Given the description of an element on the screen output the (x, y) to click on. 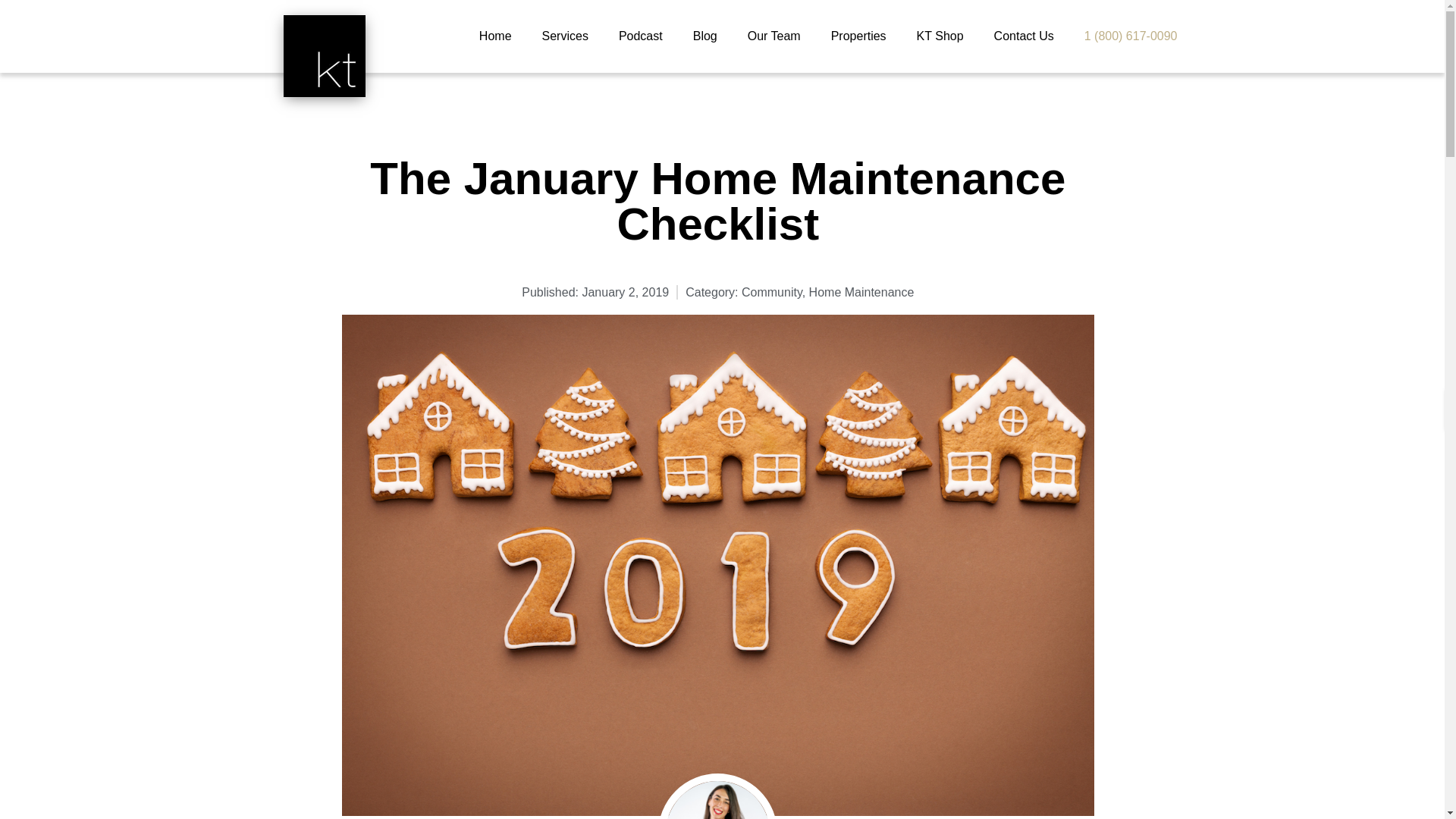
Services (564, 35)
Our Team (774, 35)
Podcast (640, 35)
Contact Us (1024, 35)
Home (495, 35)
Properties (858, 35)
KT Shop (940, 35)
Blog (705, 35)
